Given the description of an element on the screen output the (x, y) to click on. 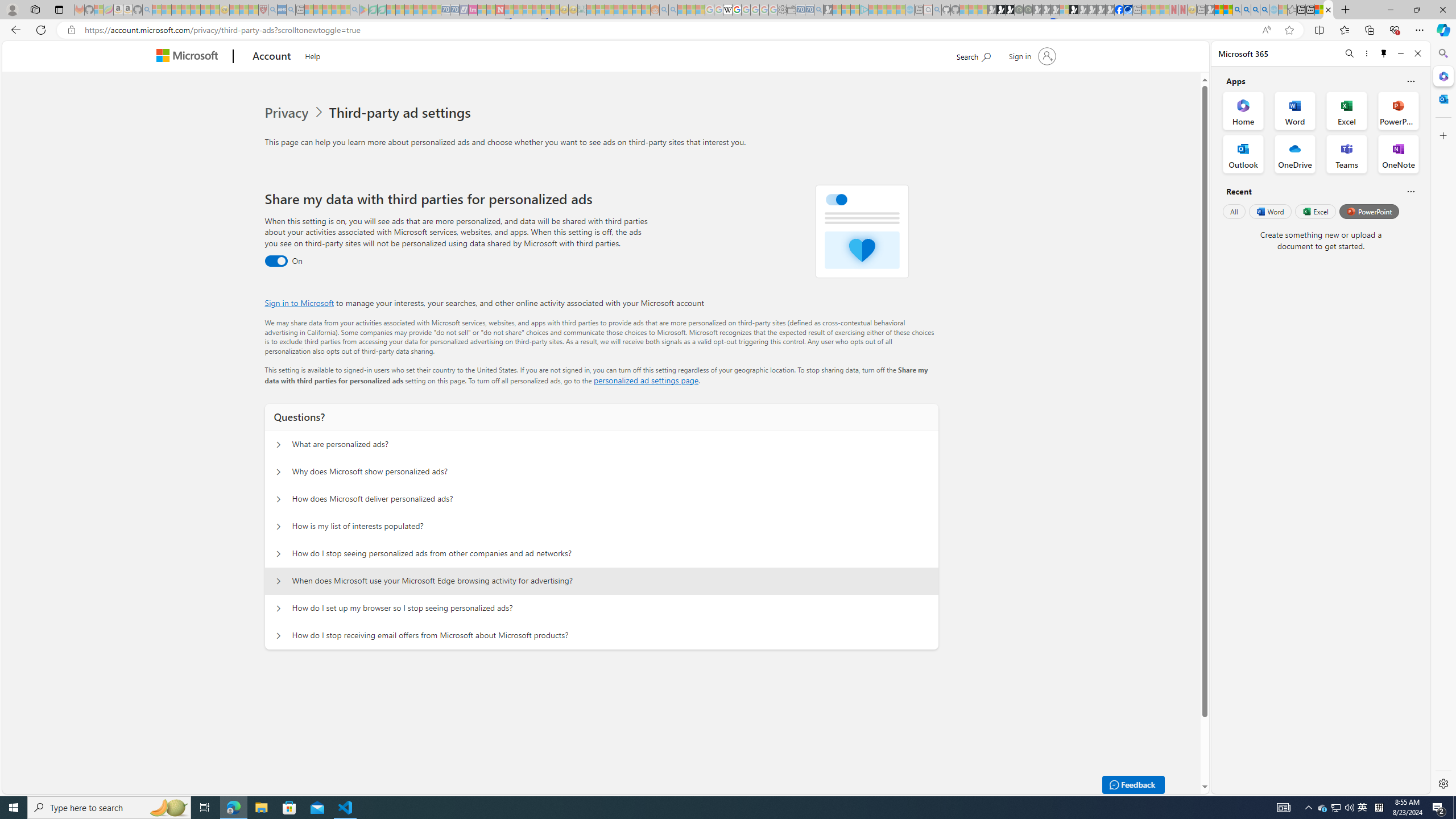
Third-party ad settings (402, 112)
Word Office App (1295, 110)
Outlook Office App (1243, 154)
